Given the description of an element on the screen output the (x, y) to click on. 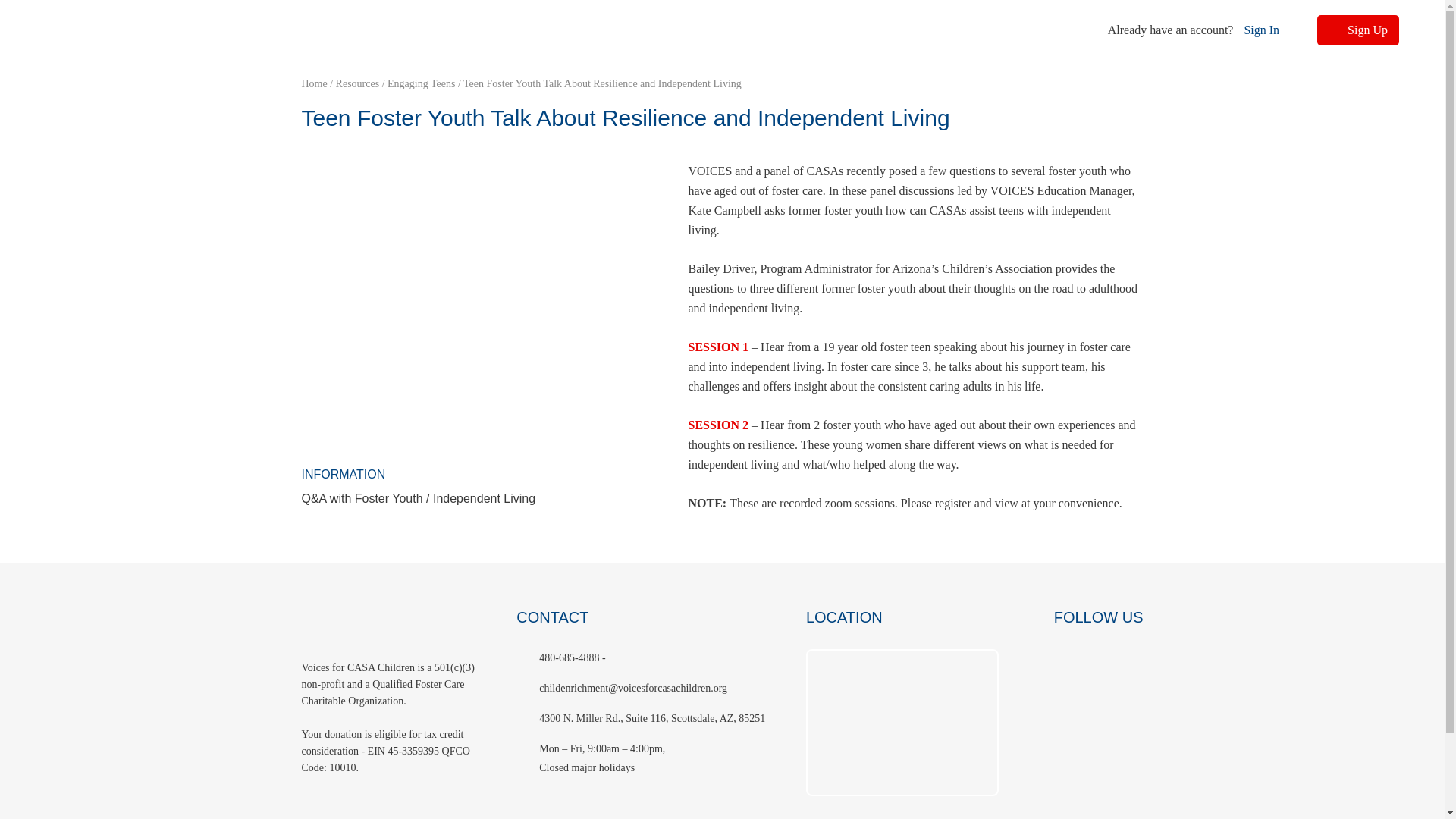
480-685-4888 (570, 657)
Resources (358, 83)
Home (315, 83)
Sign Up (1358, 30)
Engaging Teens (420, 83)
Sign In (1261, 29)
SESSION 2 (720, 424)
SESSION 1 (718, 346)
